Given the description of an element on the screen output the (x, y) to click on. 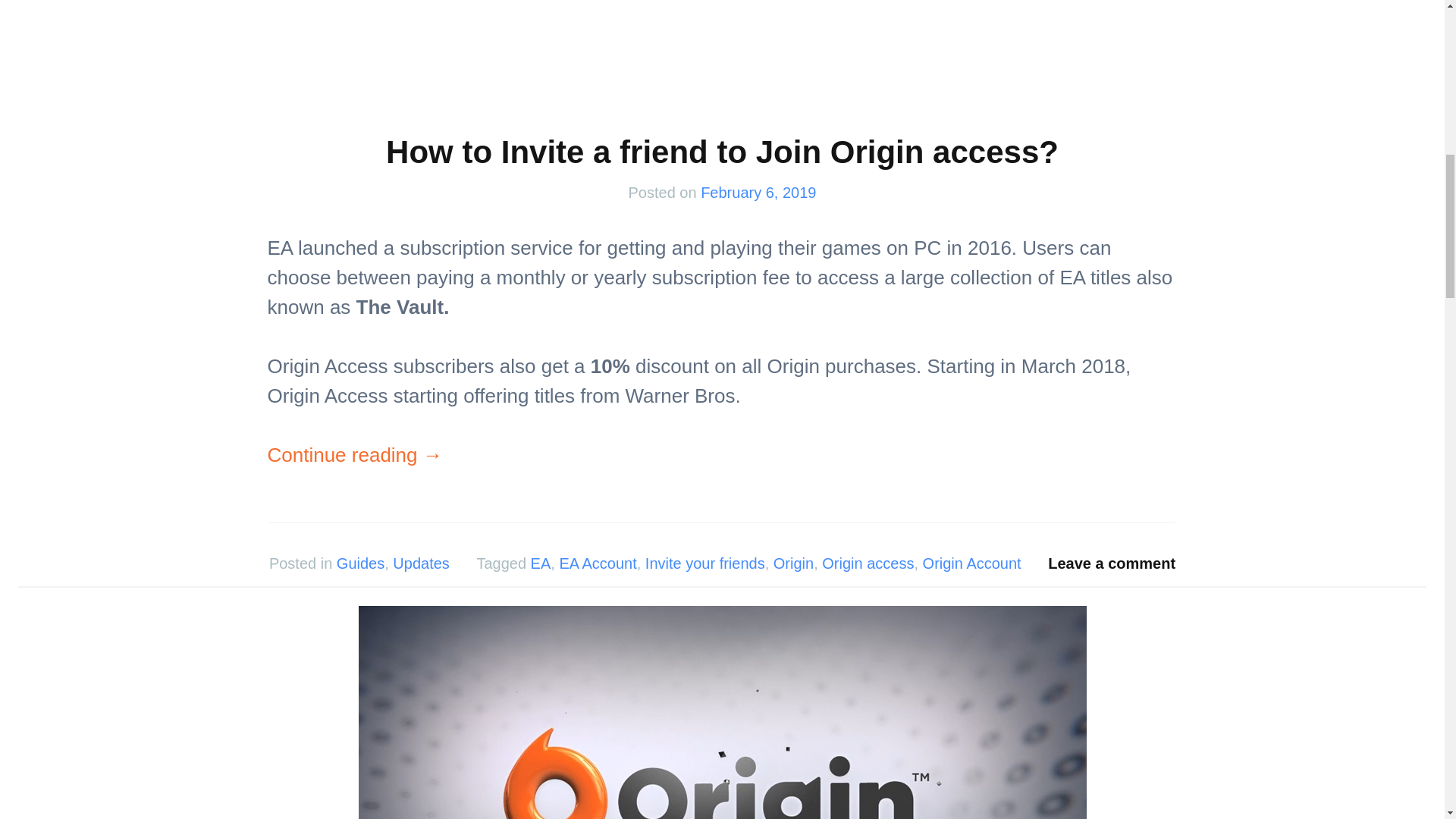
Invite your friends (705, 563)
EA Account (597, 563)
Origin Account (972, 563)
How to Invite a friend to Join Origin access? (721, 151)
February 6, 2019 (757, 192)
Leave a comment (1111, 563)
Updates (421, 563)
EA (541, 563)
Guides (360, 563)
Origin (793, 563)
